Given the description of an element on the screen output the (x, y) to click on. 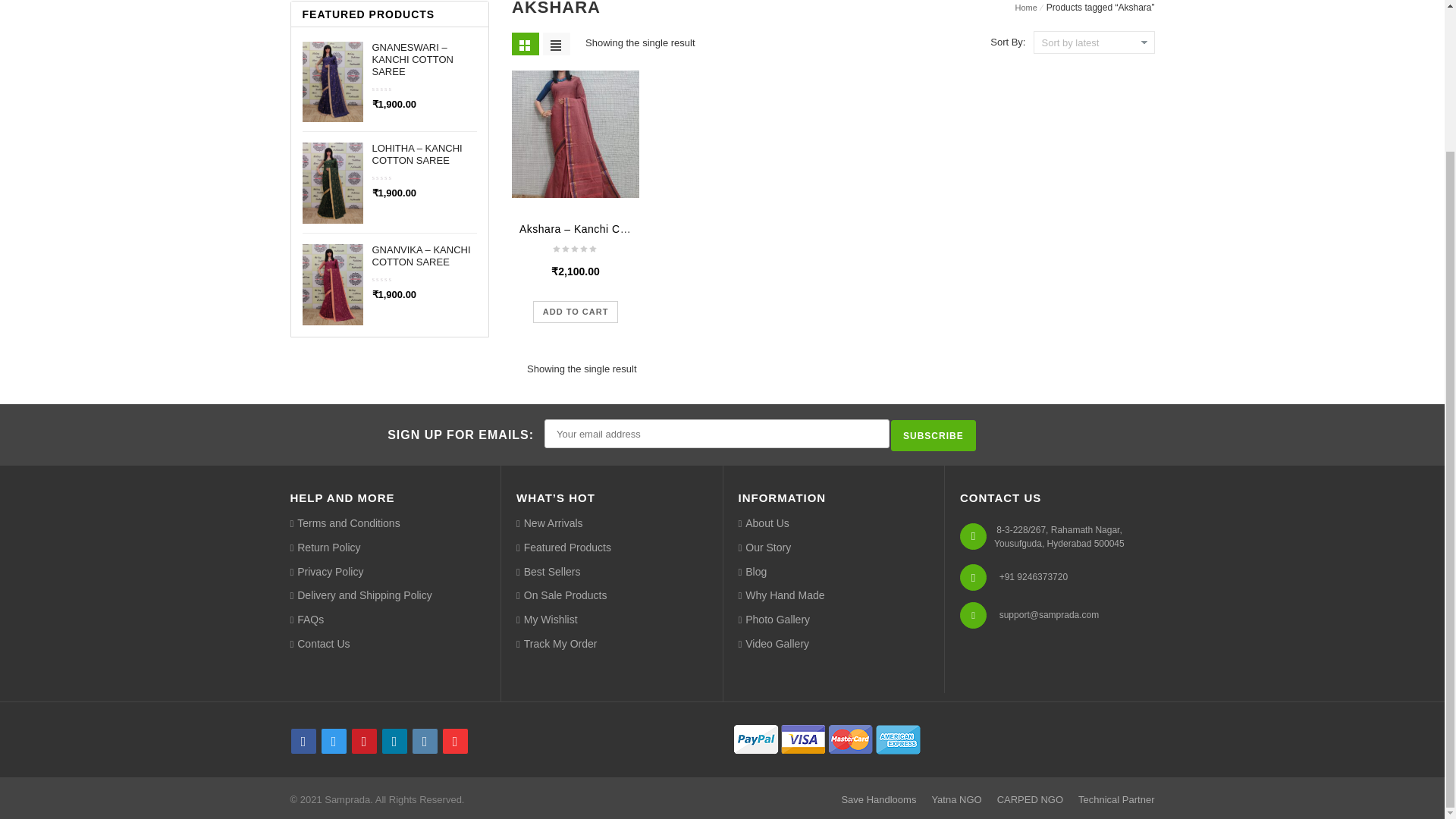
Subscribe (933, 435)
New Arrivals (549, 523)
Return Policy (324, 547)
Contact Us (319, 644)
Delivery and Shipping Policy (359, 596)
Track My Order (556, 644)
List (556, 43)
Best Sellers (547, 572)
Featured Products (563, 547)
On Sale Products (561, 596)
